Given the description of an element on the screen output the (x, y) to click on. 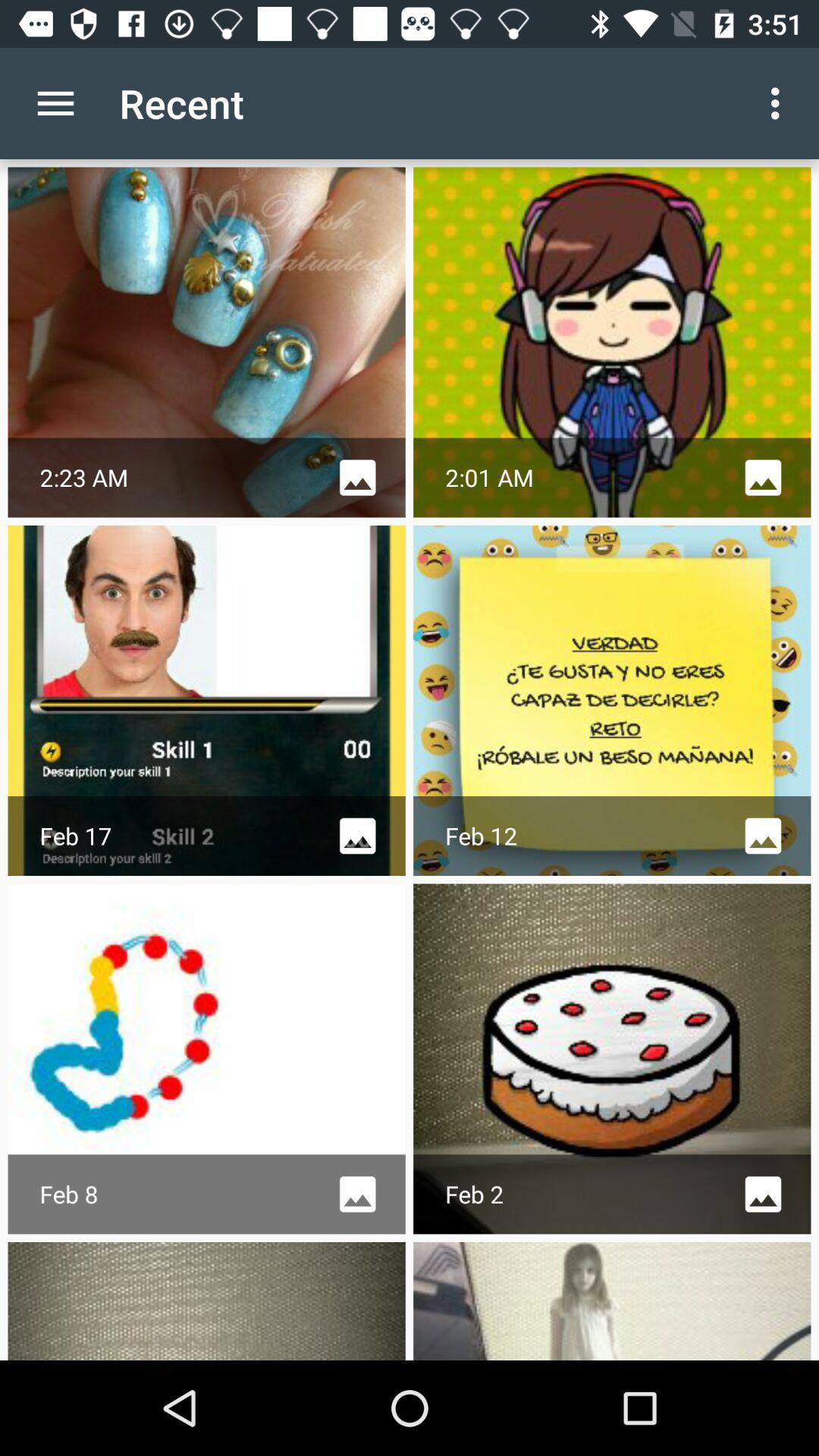
choose the app to the left of recent item (55, 103)
